Given the description of an element on the screen output the (x, y) to click on. 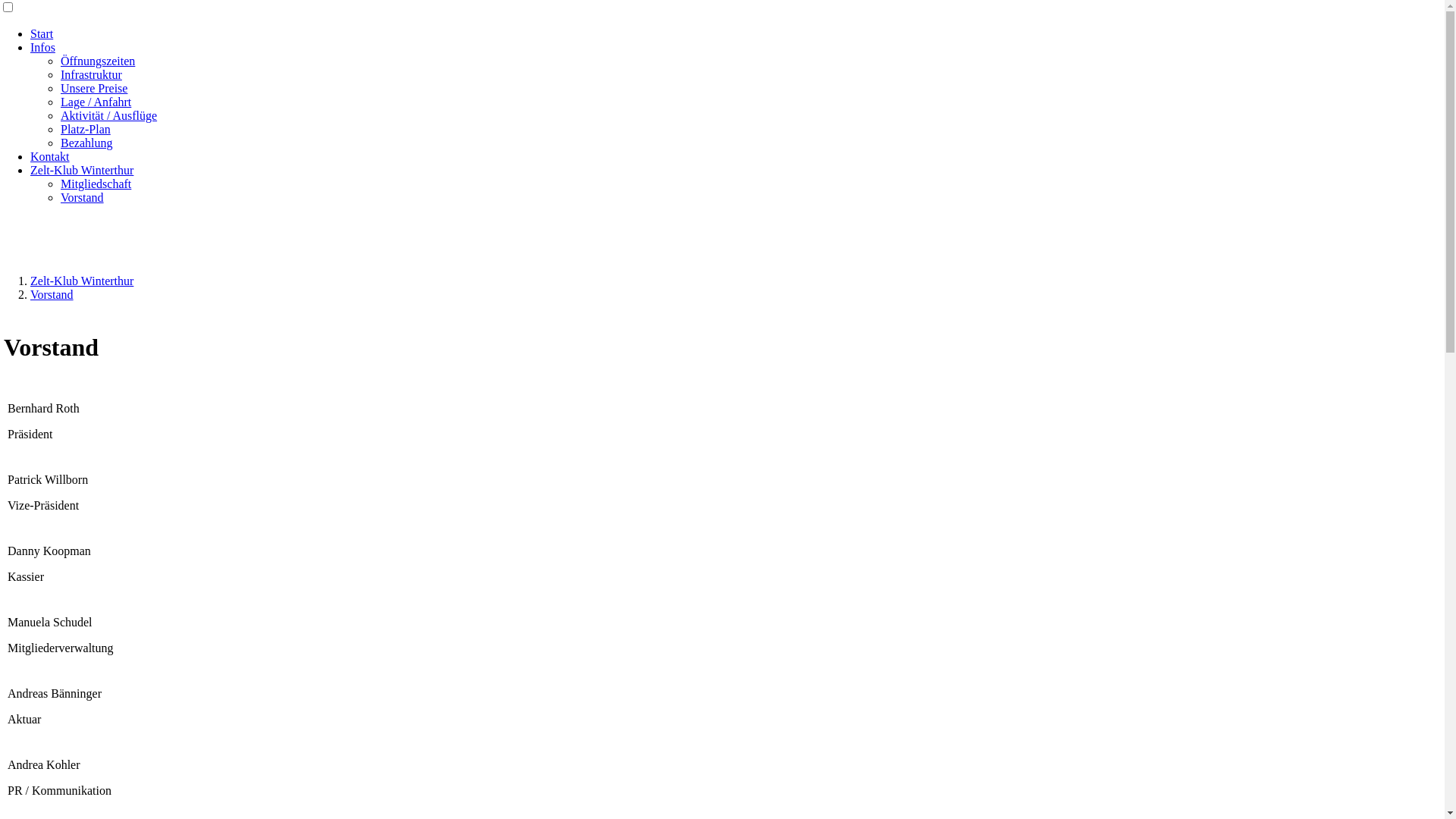
Start Element type: text (41, 33)
Infrastruktur Element type: text (91, 74)
Bezahlung Element type: text (86, 142)
Zelt-Klub Winterthur Element type: text (81, 280)
Vorstand Element type: text (81, 197)
Vorstand Element type: text (51, 294)
Lage / Anfahrt Element type: text (95, 101)
Platz-Plan Element type: text (85, 128)
Zelt-Klub Winterthur Element type: text (81, 169)
Kontakt Element type: text (49, 156)
Infos Element type: text (42, 46)
Unsere Preise Element type: text (93, 87)
Mitgliedschaft Element type: text (95, 183)
